Given the description of an element on the screen output the (x, y) to click on. 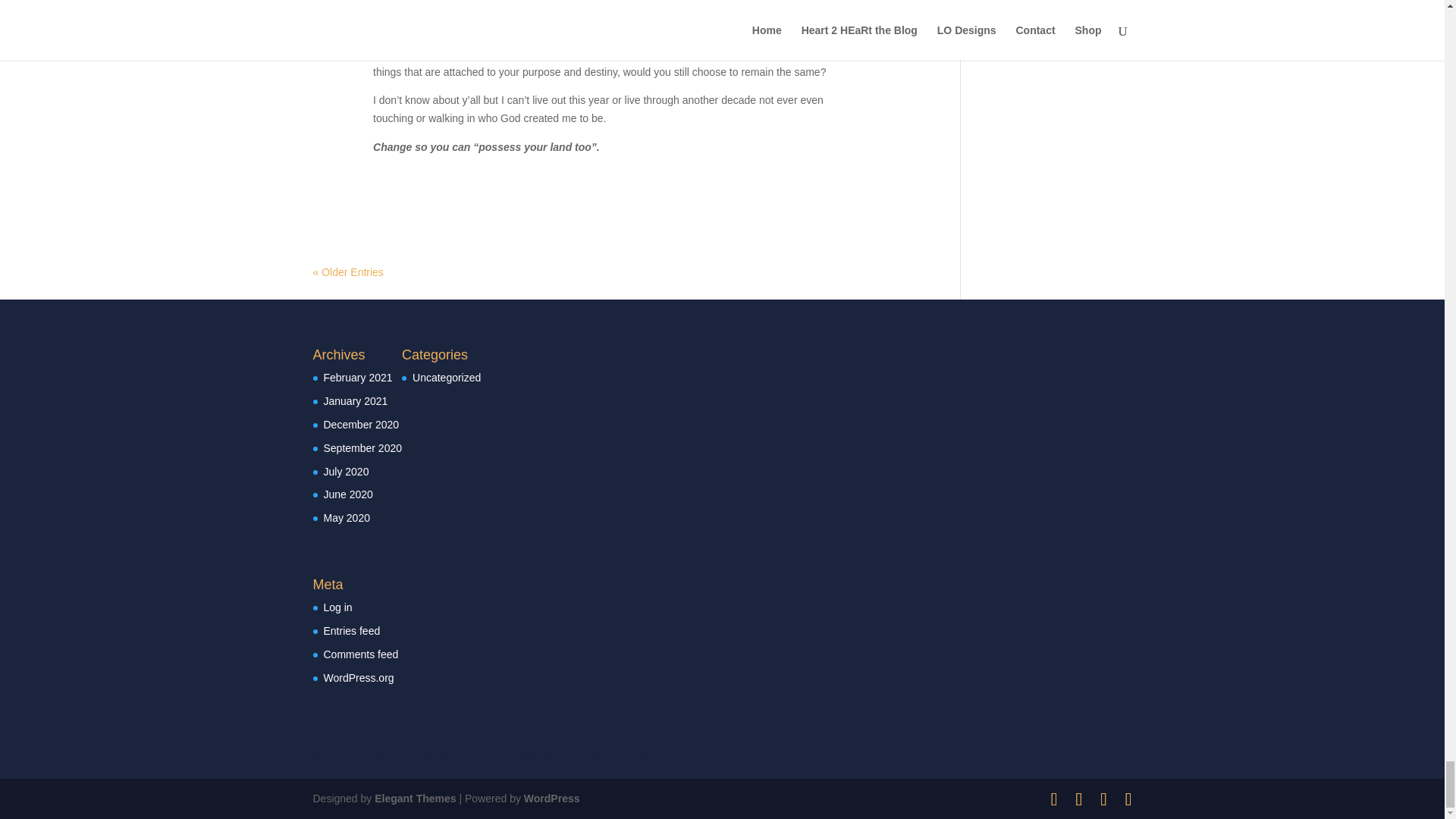
February 2021 (357, 377)
Premium WordPress Themes (414, 798)
December 2020 (360, 424)
January 2021 (355, 400)
